Given the description of an element on the screen output the (x, y) to click on. 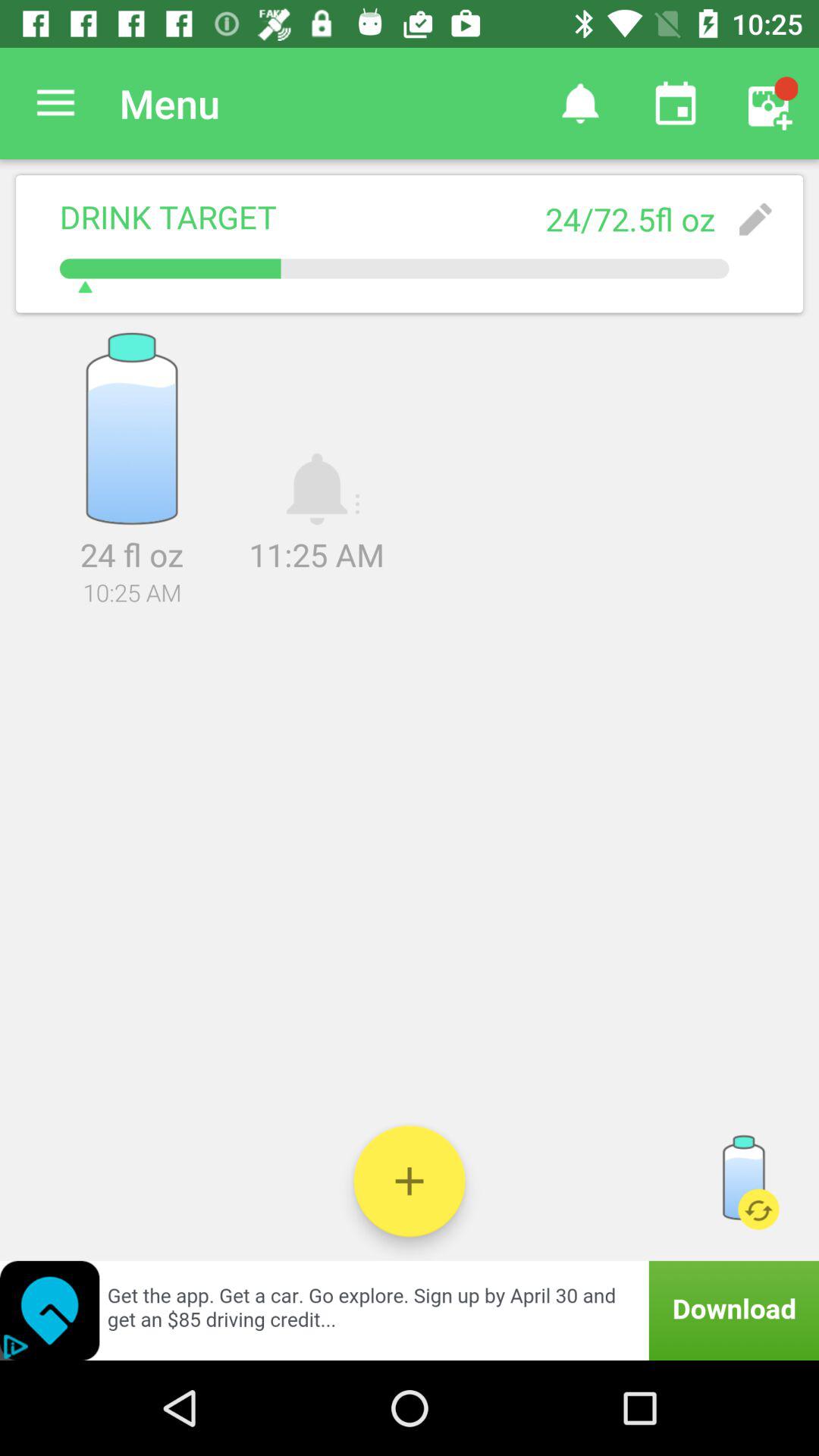
select the  icon at the bottom of the page (409, 1180)
